Given the description of an element on the screen output the (x, y) to click on. 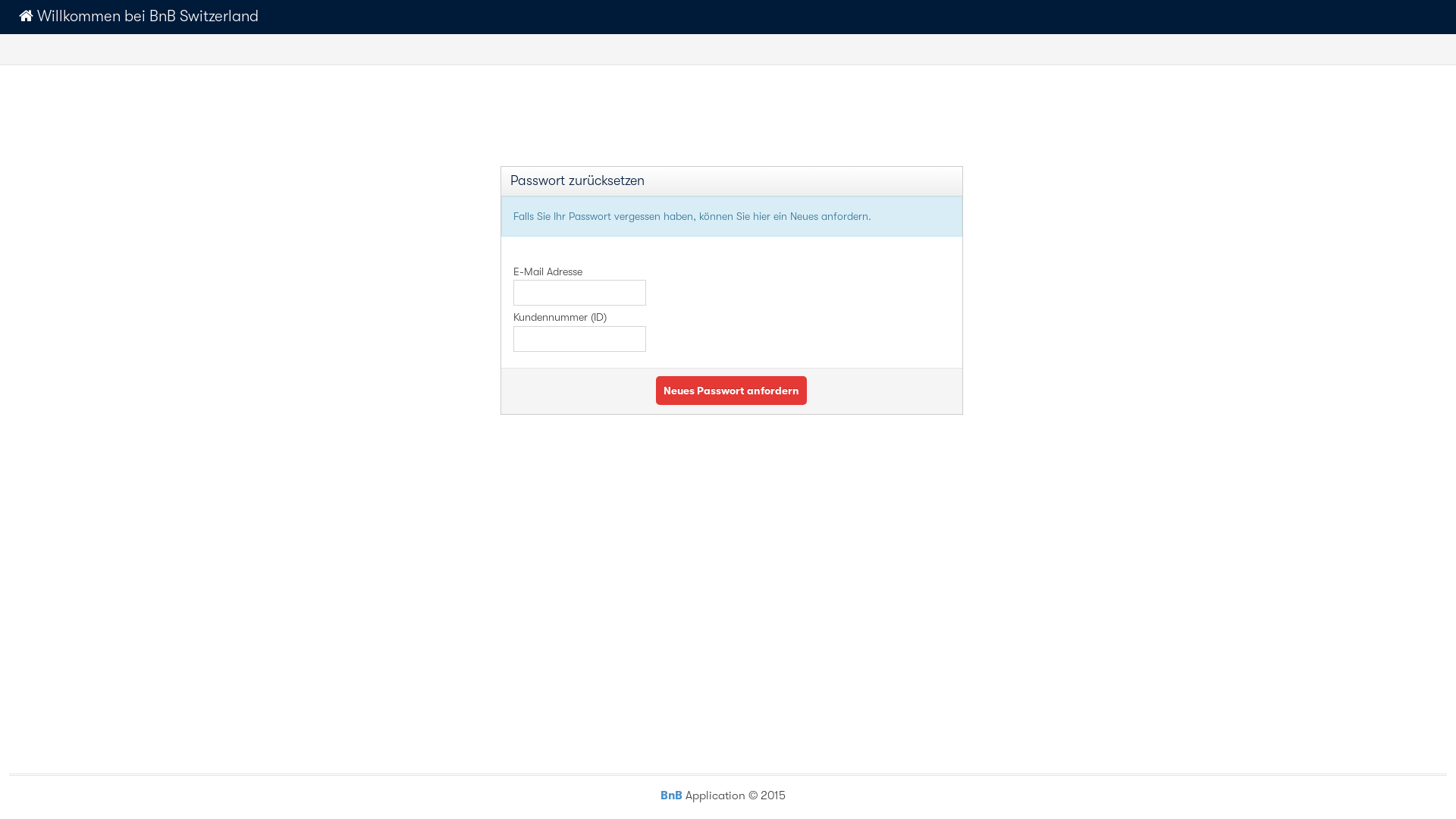
Willkommen bei BnB Switzerland Element type: text (138, 15)
Neues Passwort anfordern Element type: text (730, 390)
